Given the description of an element on the screen output the (x, y) to click on. 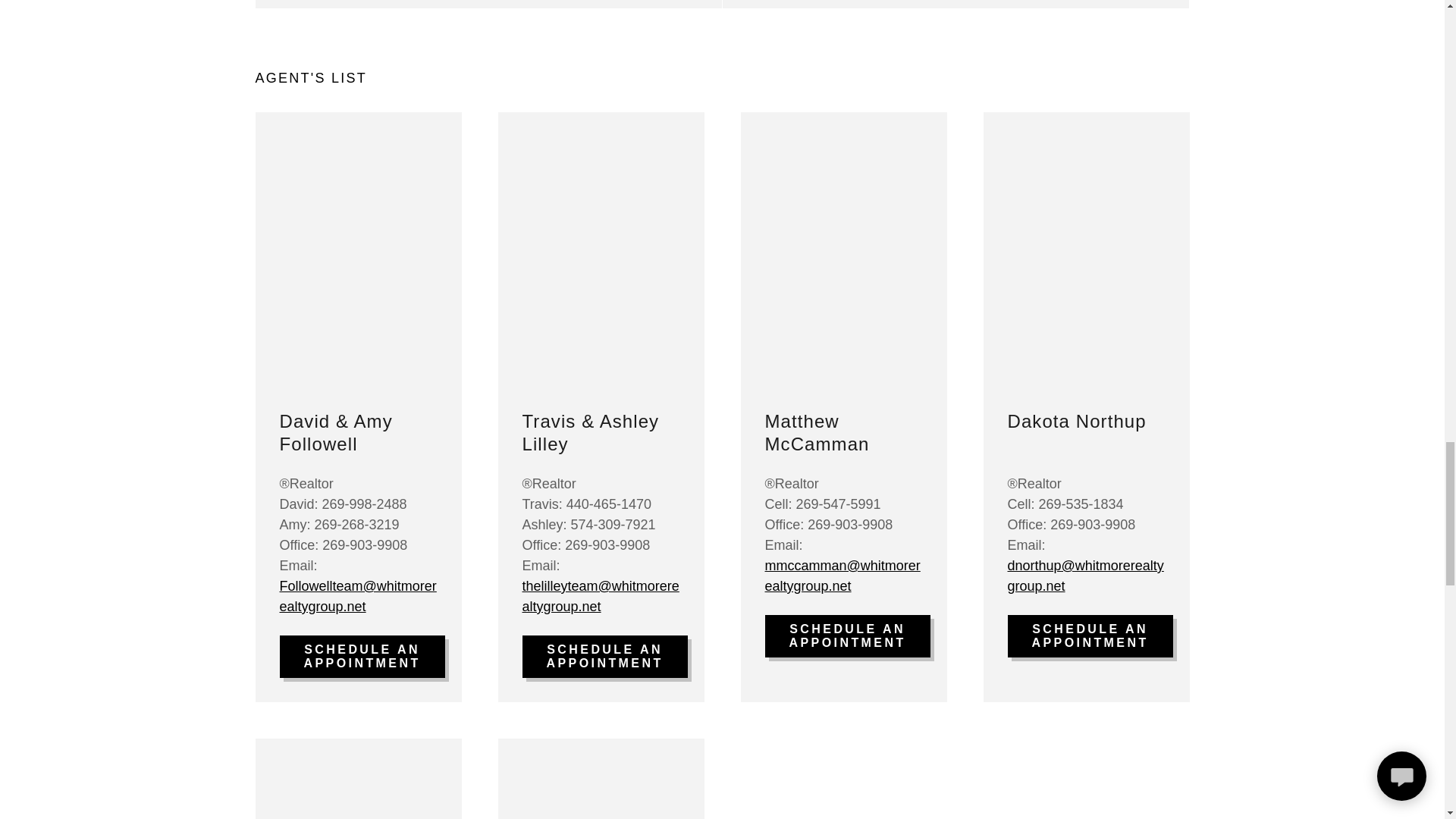
SCHEDULE AN APPOINTMENT (1089, 636)
SCHEDULE AN APPOINTMENT (361, 656)
SCHEDULE AN APPOINTMENT (847, 636)
SCHEDULE AN APPOINTMENT (604, 656)
